Given the description of an element on the screen output the (x, y) to click on. 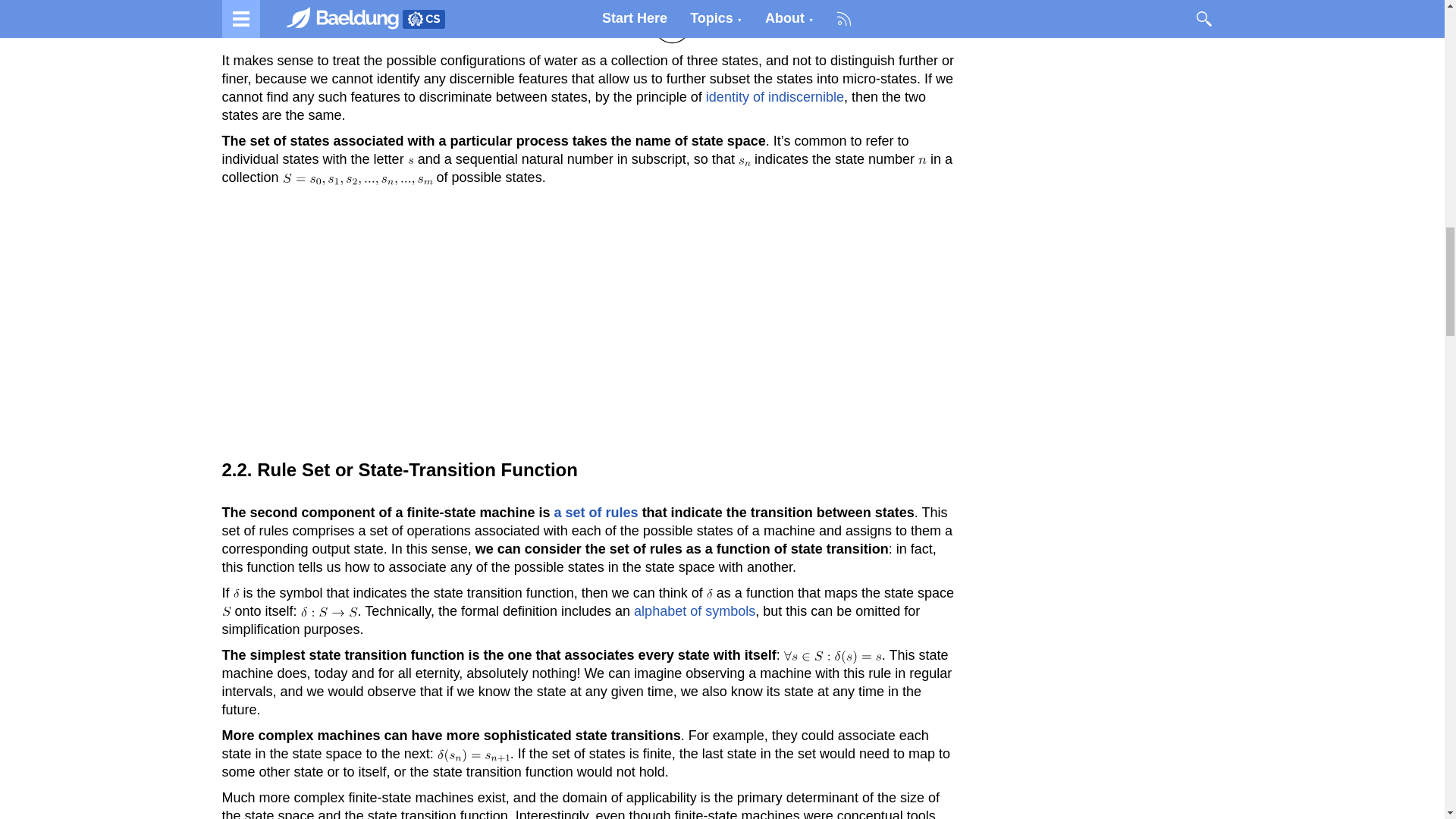
Rendered by QuickLaTeX.com (922, 160)
Rendered by QuickLaTeX.com (744, 162)
a set of rules (596, 512)
Rendered by QuickLaTeX.com (588, 22)
alphabet of symbols (694, 611)
identity of indiscernible (775, 96)
